Given the description of an element on the screen output the (x, y) to click on. 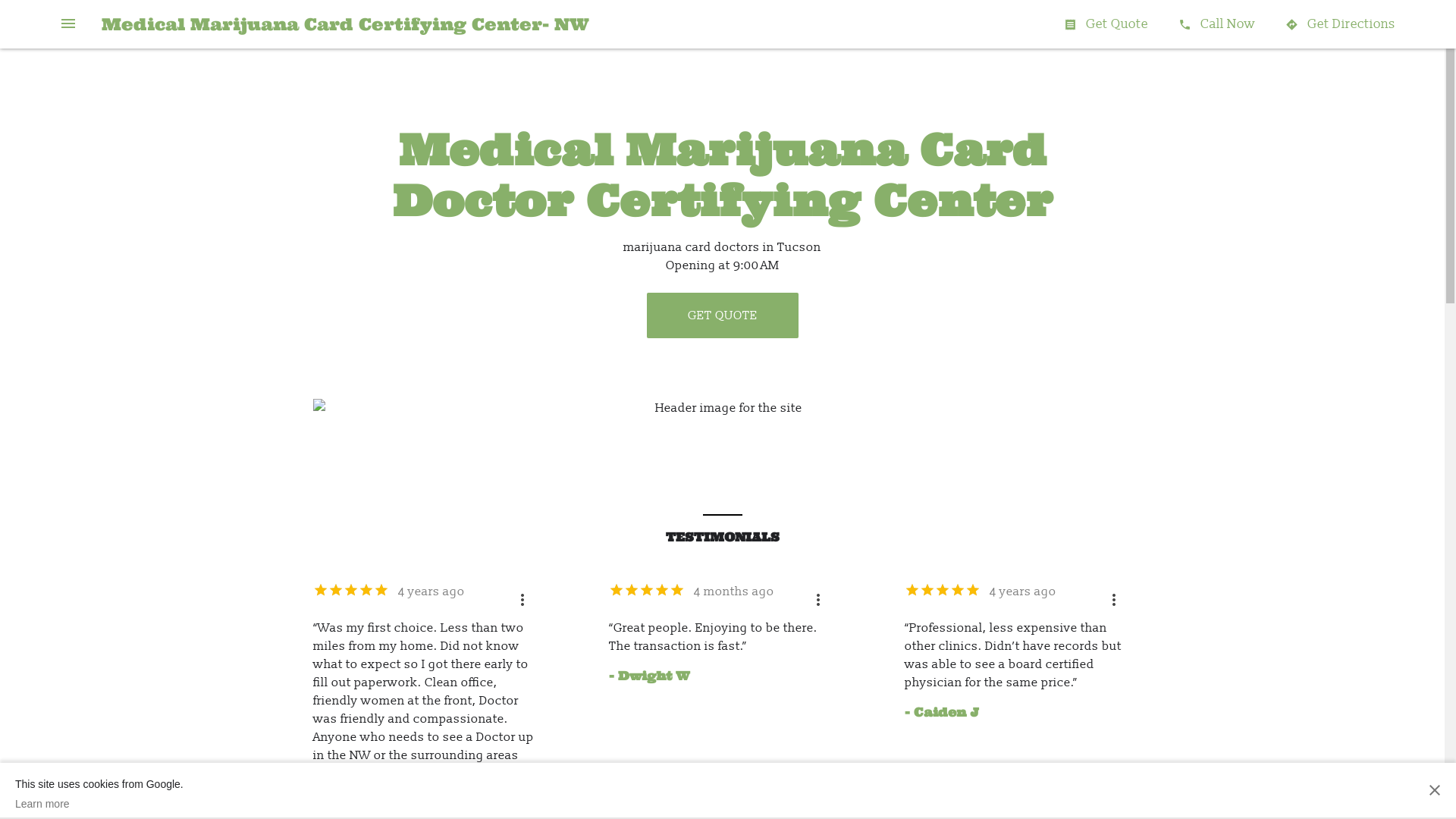
GET QUOTE Element type: text (721, 315)
Learn more Element type: text (99, 803)
Medical Marijuana Card Certifying Center- NW Element type: text (345, 23)
